Given the description of an element on the screen output the (x, y) to click on. 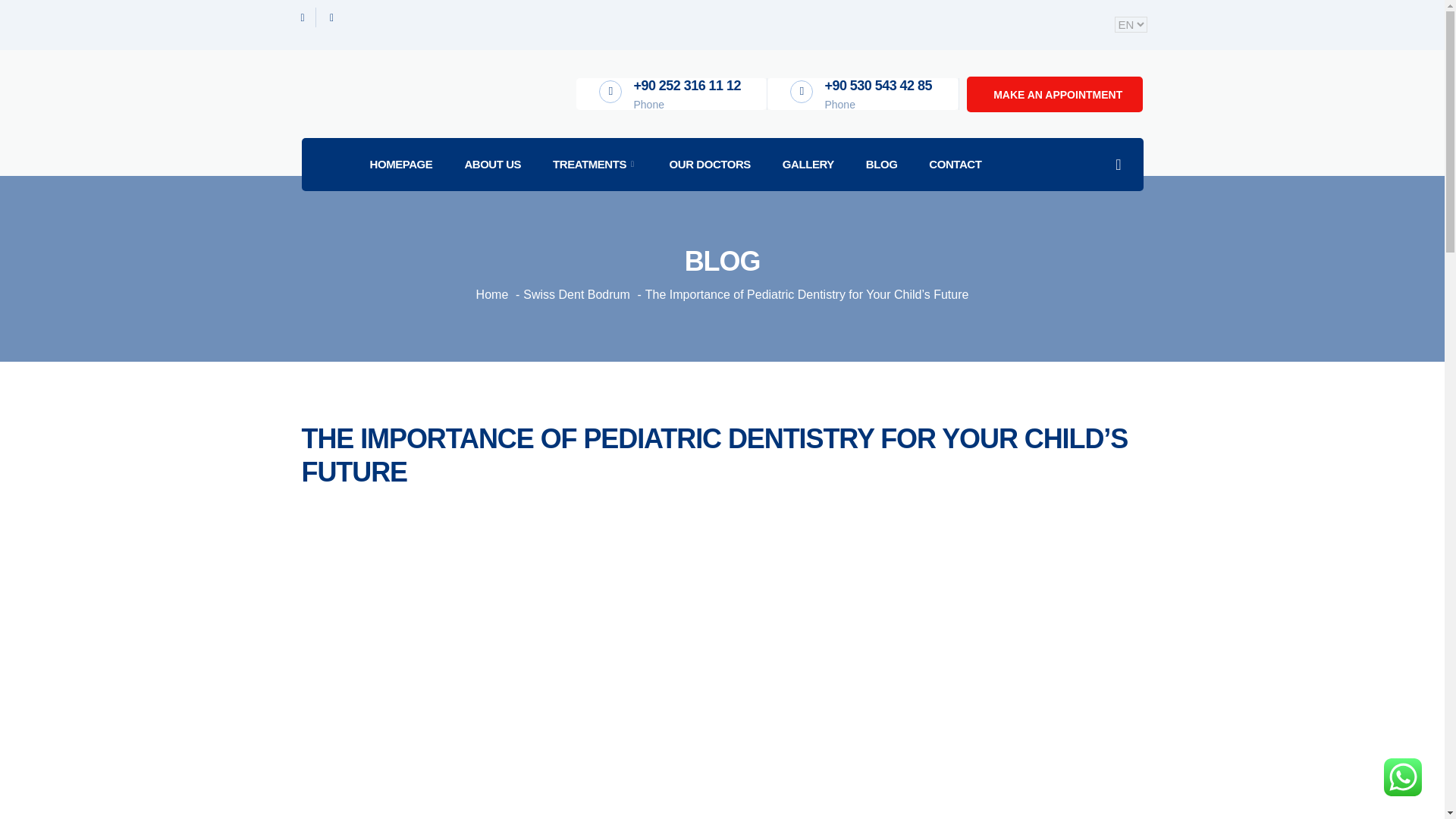
MAKE AN APPOINTMENT (1054, 94)
OUR DOCTORS (708, 164)
BLOG (880, 164)
TREATMENTS (593, 164)
GALLERY (806, 164)
ABOUT US (490, 164)
CONTACT (953, 164)
Home (492, 294)
HOMEPAGE (400, 164)
